Given the description of an element on the screen output the (x, y) to click on. 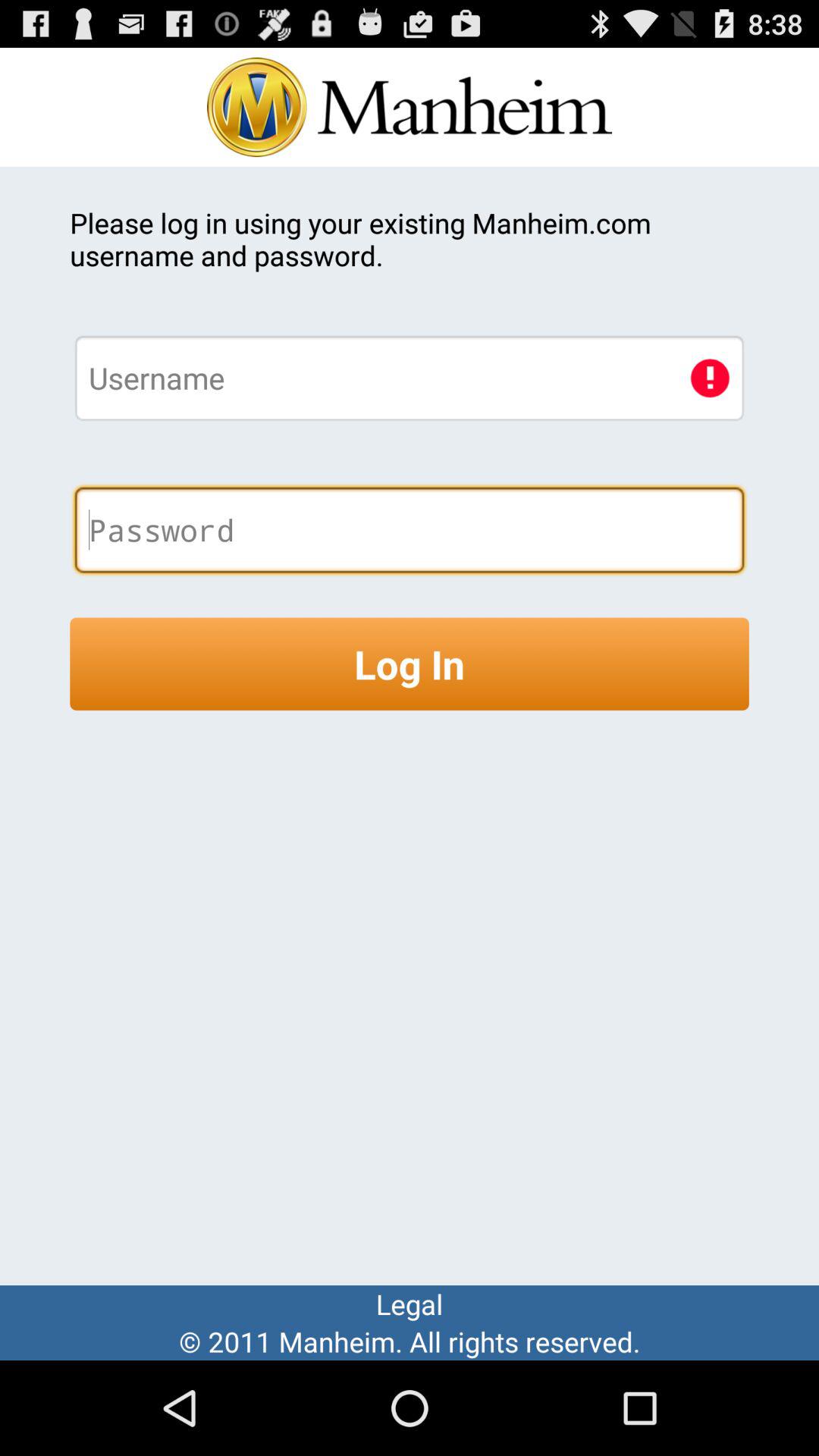
launch legal item (409, 1303)
